Given the description of an element on the screen output the (x, y) to click on. 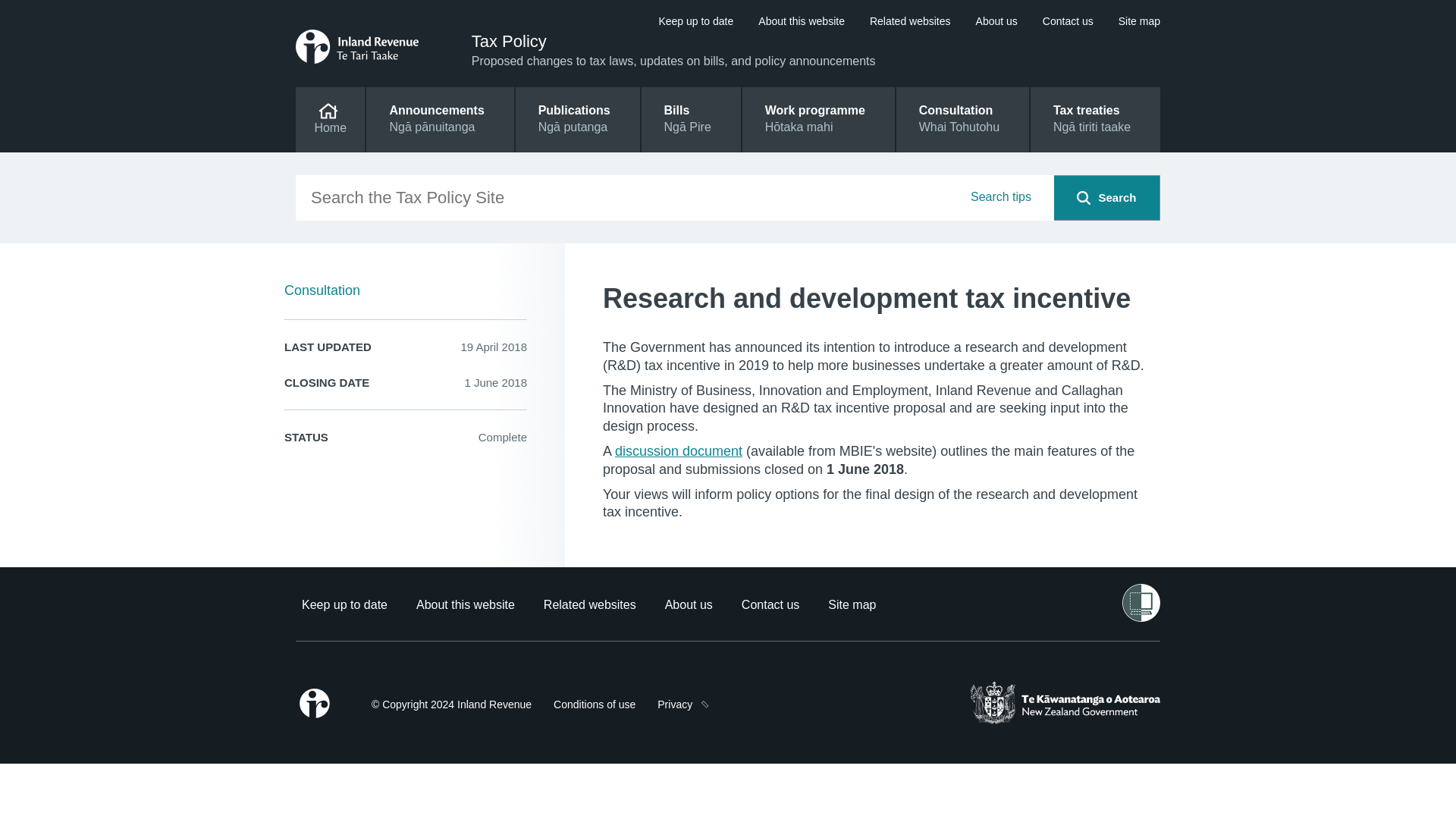
Contact us (1067, 21)
Related websites (589, 604)
Keep up to date (695, 21)
Related websites (909, 21)
Contact us (770, 604)
Search (1083, 197)
About this website (801, 21)
Conditions of use (593, 704)
About us (689, 604)
Conditions of use (593, 704)
